Given the description of an element on the screen output the (x, y) to click on. 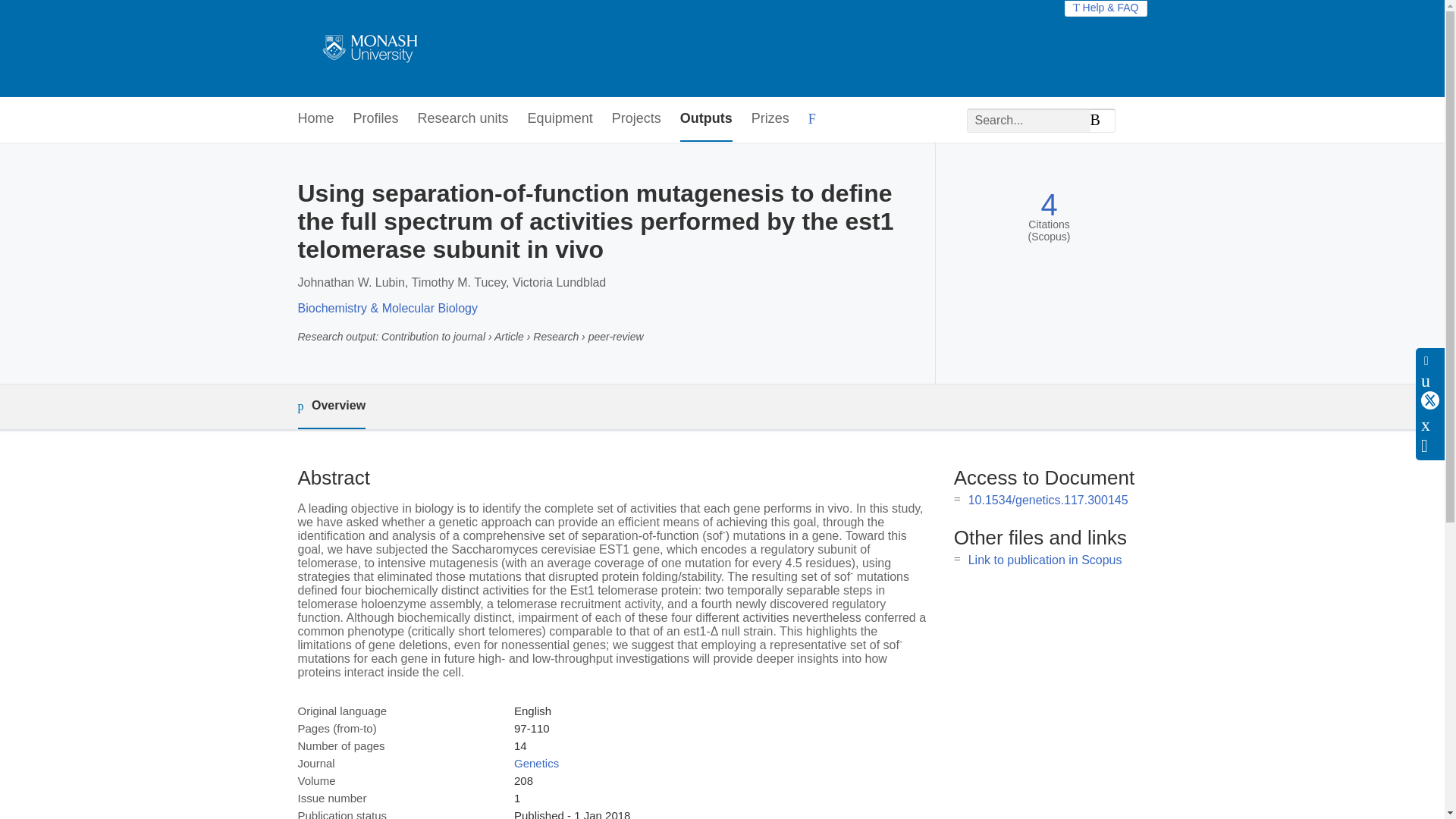
Outputs (705, 119)
Monash University Home (366, 48)
Overview (331, 406)
Research units (462, 119)
Profiles (375, 119)
Genetics (536, 762)
Projects (636, 119)
Link to publication in Scopus (1045, 559)
Equipment (559, 119)
